Given the description of an element on the screen output the (x, y) to click on. 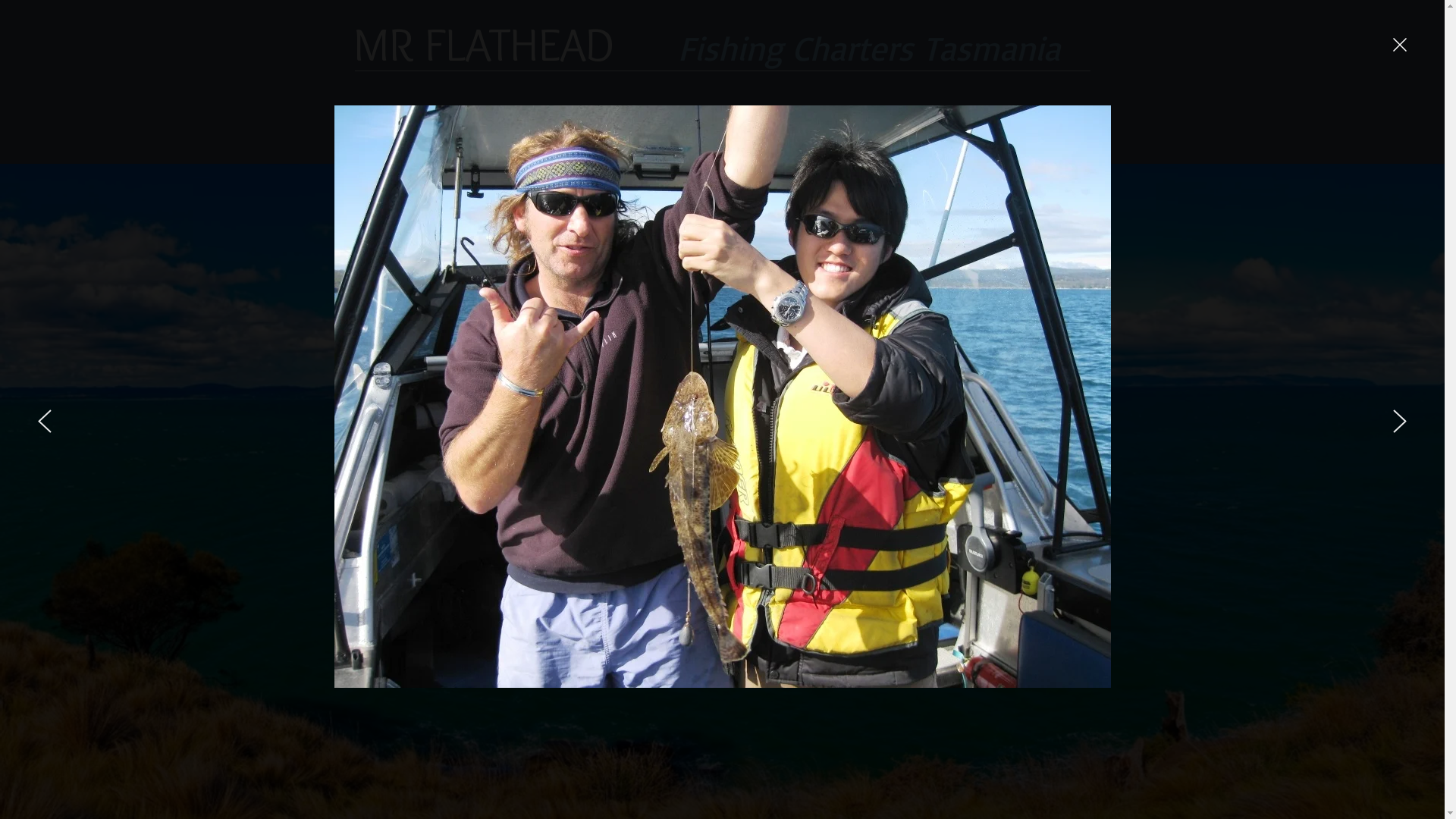
MR FLATHEAD Element type: text (483, 44)
The Gallery Element type: text (964, 126)
Bookings Element type: text (1045, 126)
The Vessel Element type: text (877, 126)
Home Element type: text (696, 126)
The Experience Element type: text (780, 126)
